Given the description of an element on the screen output the (x, y) to click on. 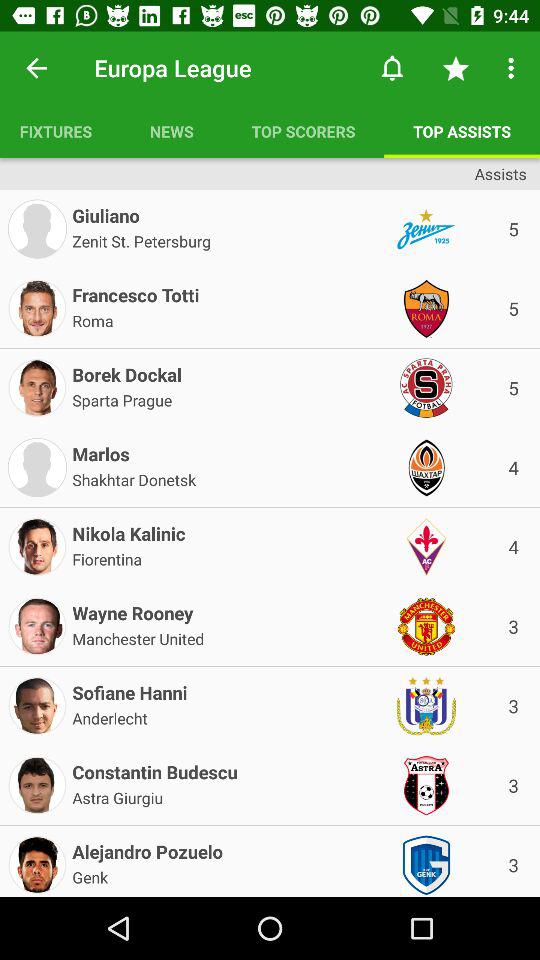
click item below alejandro pozuelo item (90, 875)
